Given the description of an element on the screen output the (x, y) to click on. 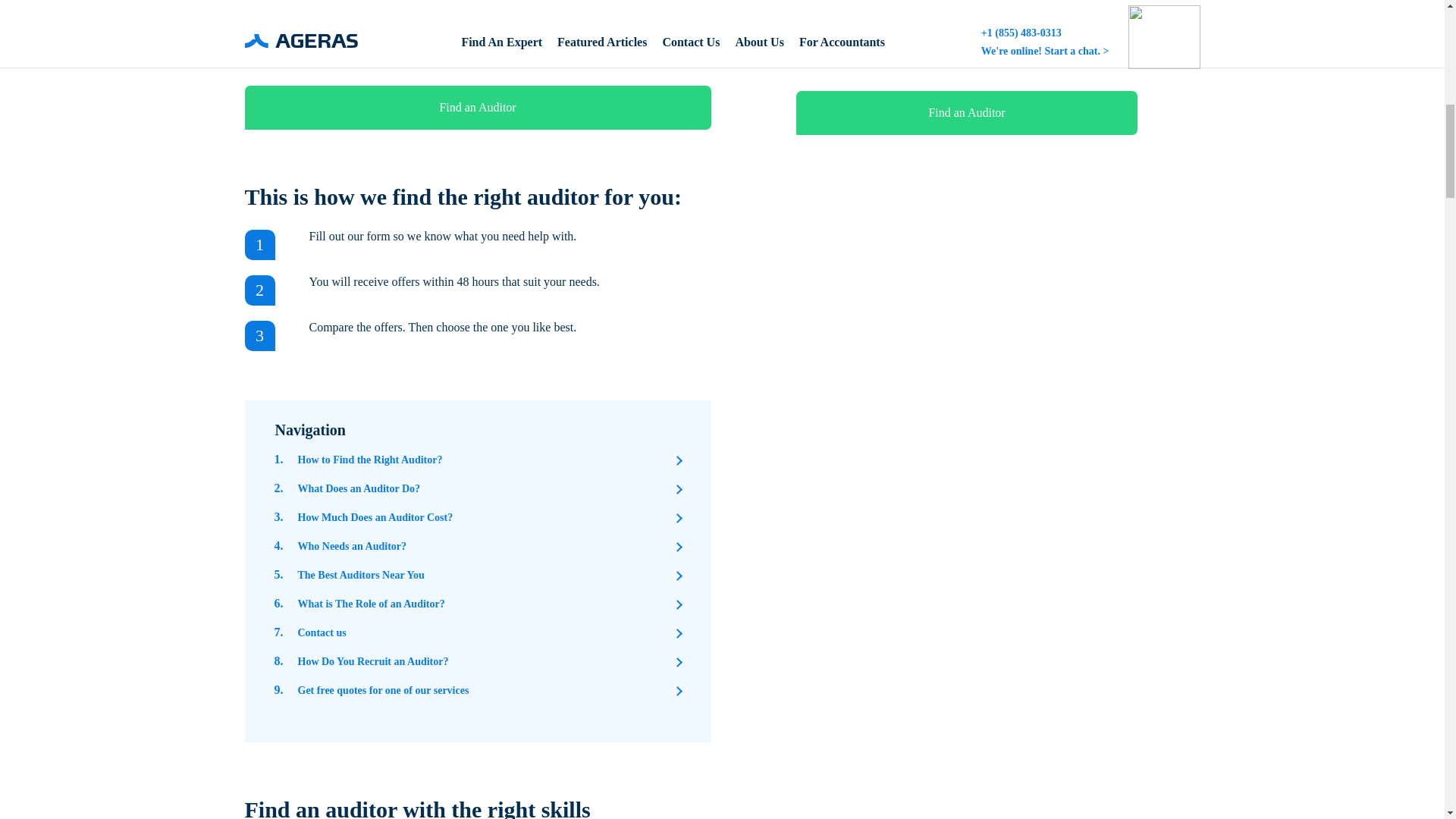
How to Find the Right Auditor? (369, 460)
How Much Does an Auditor Cost? (374, 517)
What Does an Auditor Do? (358, 488)
